Given the description of an element on the screen output the (x, y) to click on. 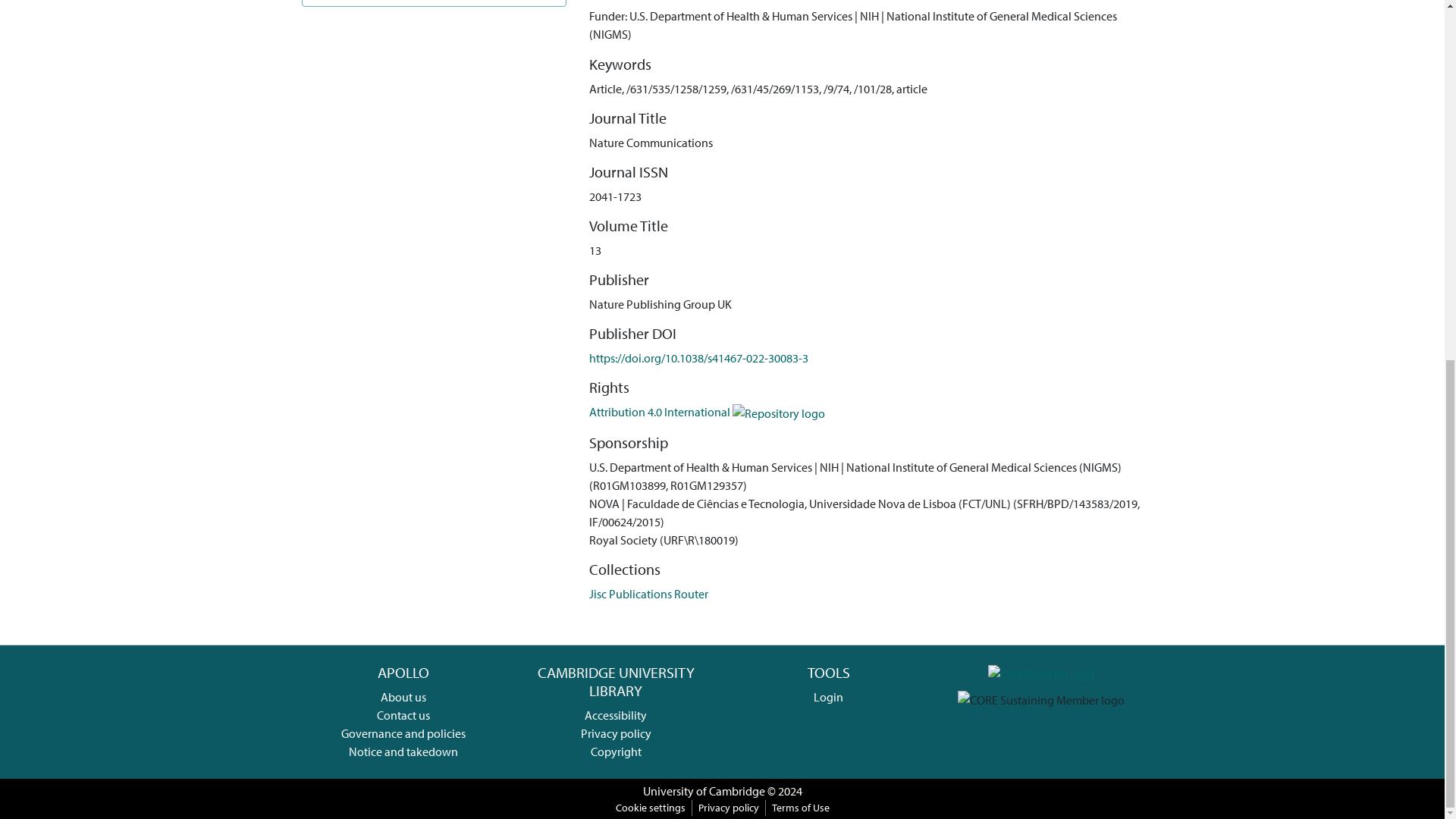
Apollo CTS full application (1041, 672)
Contact us (403, 714)
About us (403, 696)
Full item page (434, 3)
Attribution 4.0 International (707, 411)
Jisc Publications Router (648, 593)
